Given the description of an element on the screen output the (x, y) to click on. 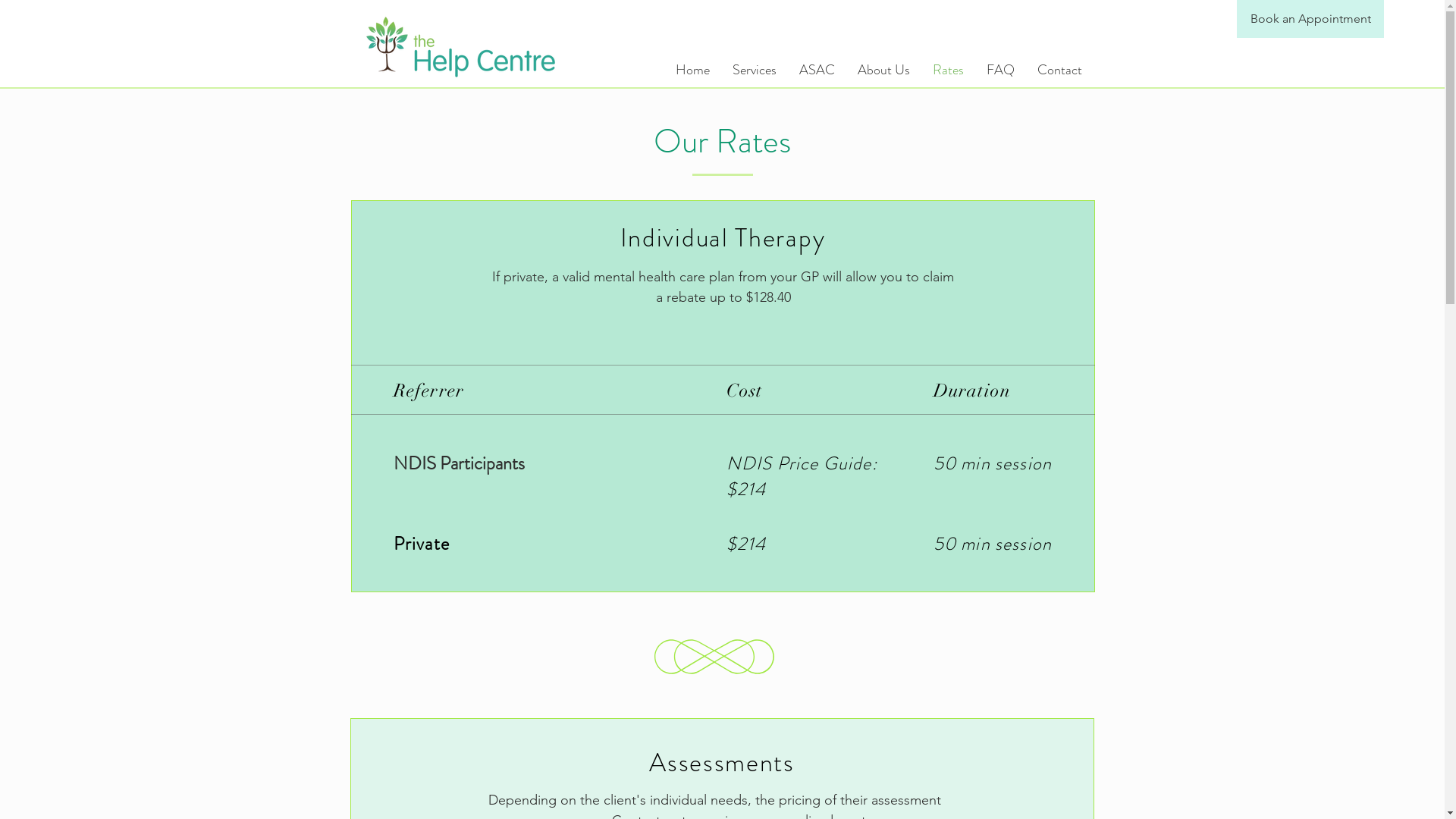
Rates Element type: text (947, 69)
Services Element type: text (753, 69)
About Us Element type: text (883, 69)
FAQ Element type: text (1000, 69)
Home Element type: text (692, 69)
ASAC Element type: text (816, 69)
Contact Element type: text (1058, 69)
Book an Appointment Element type: text (1309, 18)
